Given the description of an element on the screen output the (x, y) to click on. 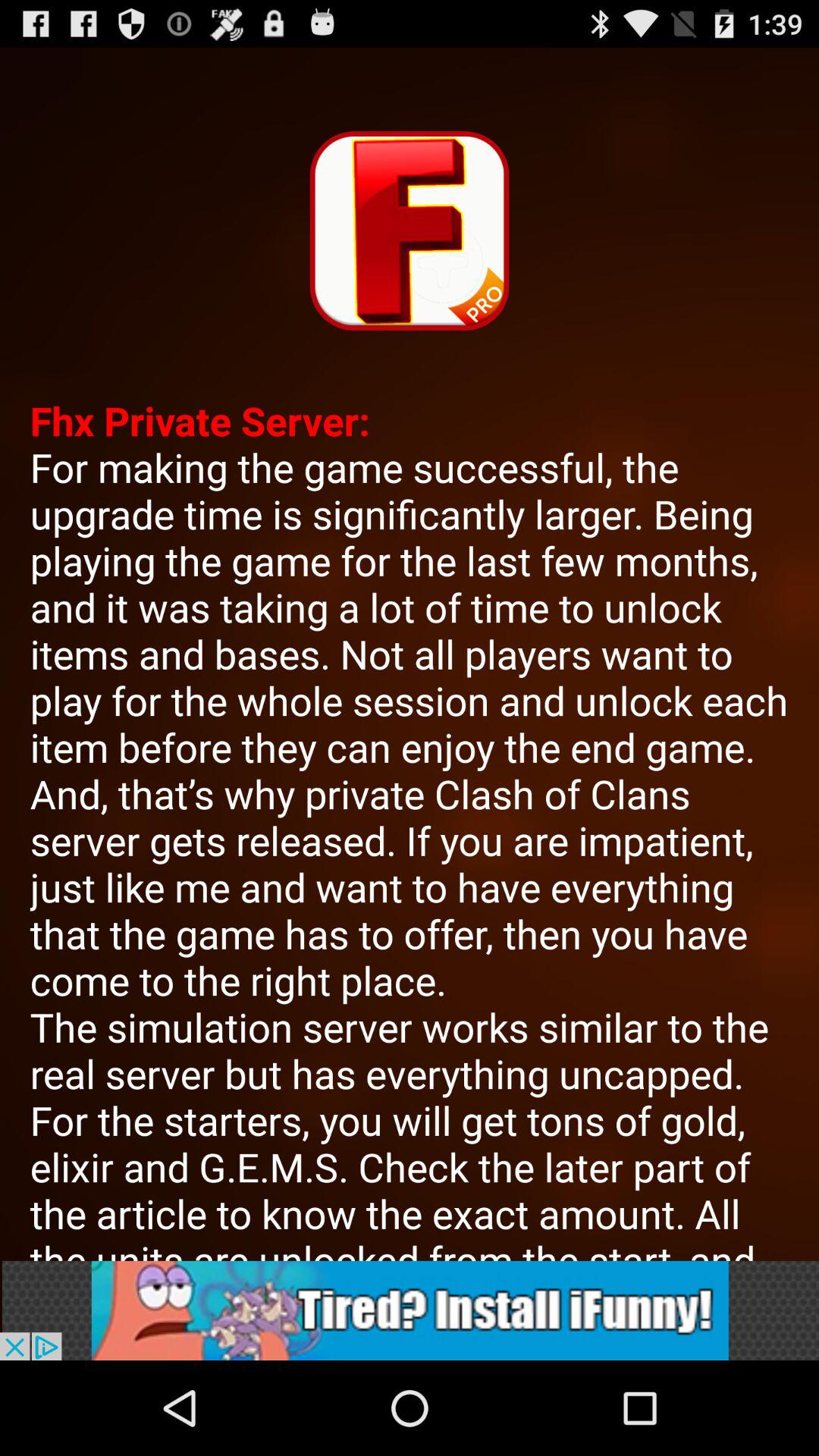
click on advertisement below (409, 1310)
